Given the description of an element on the screen output the (x, y) to click on. 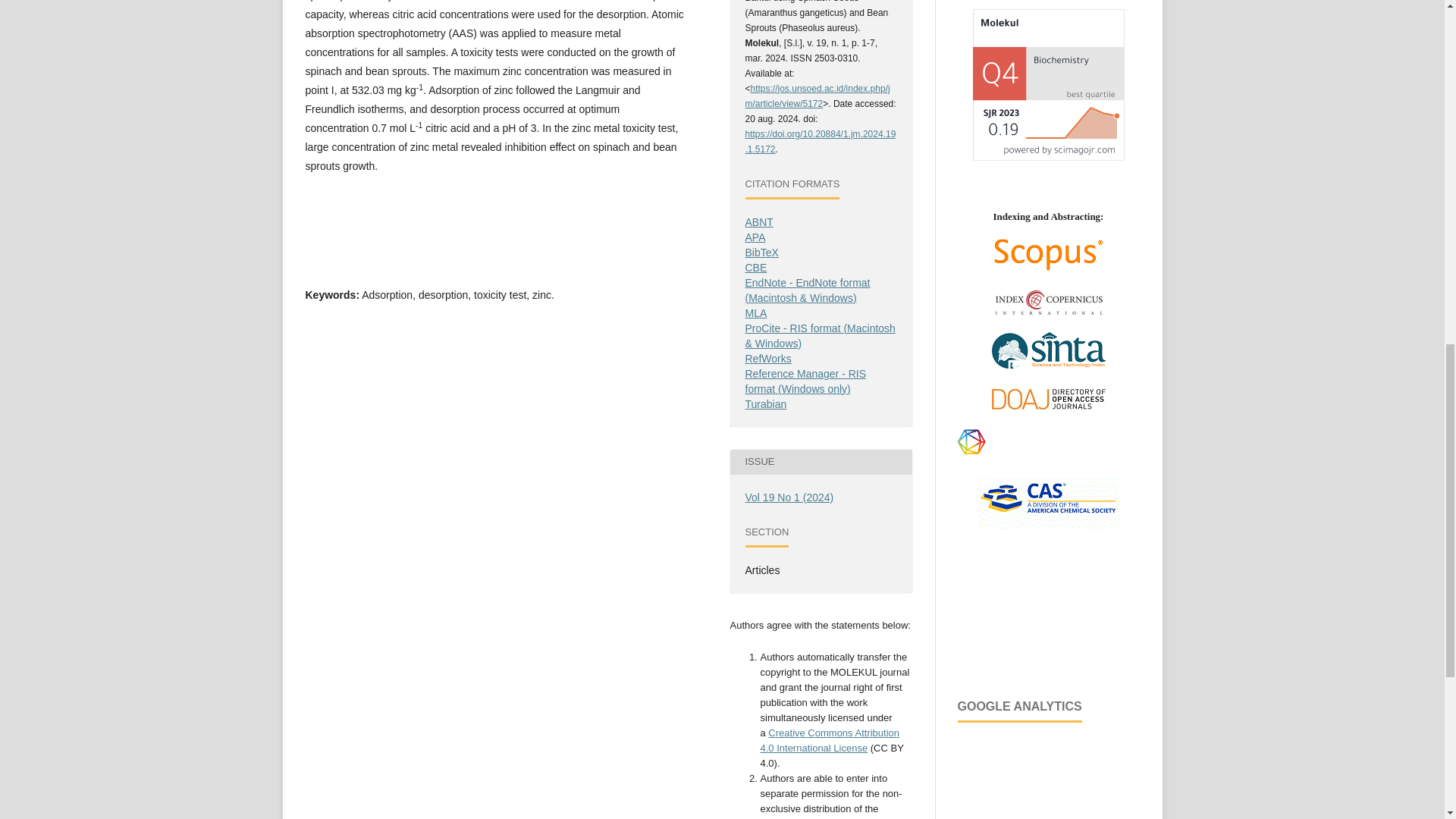
ABNT (758, 222)
Scopus Molekul (1048, 269)
APA (754, 236)
Sinta Molekul (1048, 368)
Turabian (765, 404)
CBE (755, 267)
RefWorks (767, 358)
CAS Molekul (1048, 525)
BibTeX (760, 252)
Dimensions Molekul (1047, 454)
